Given the description of an element on the screen output the (x, y) to click on. 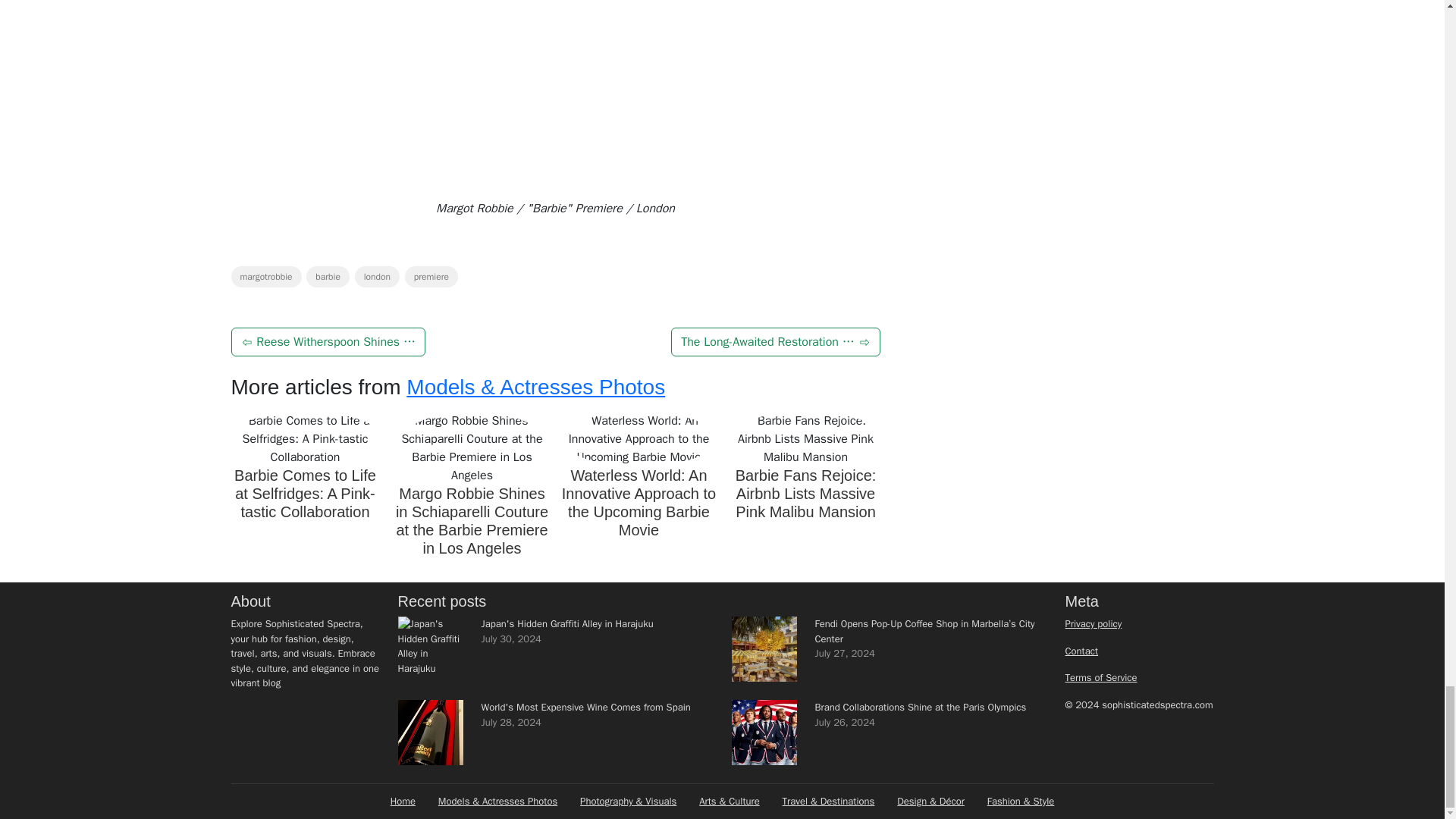
premiere (431, 276)
london (376, 276)
barbie (327, 276)
margotrobbie (265, 276)
